Given the description of an element on the screen output the (x, y) to click on. 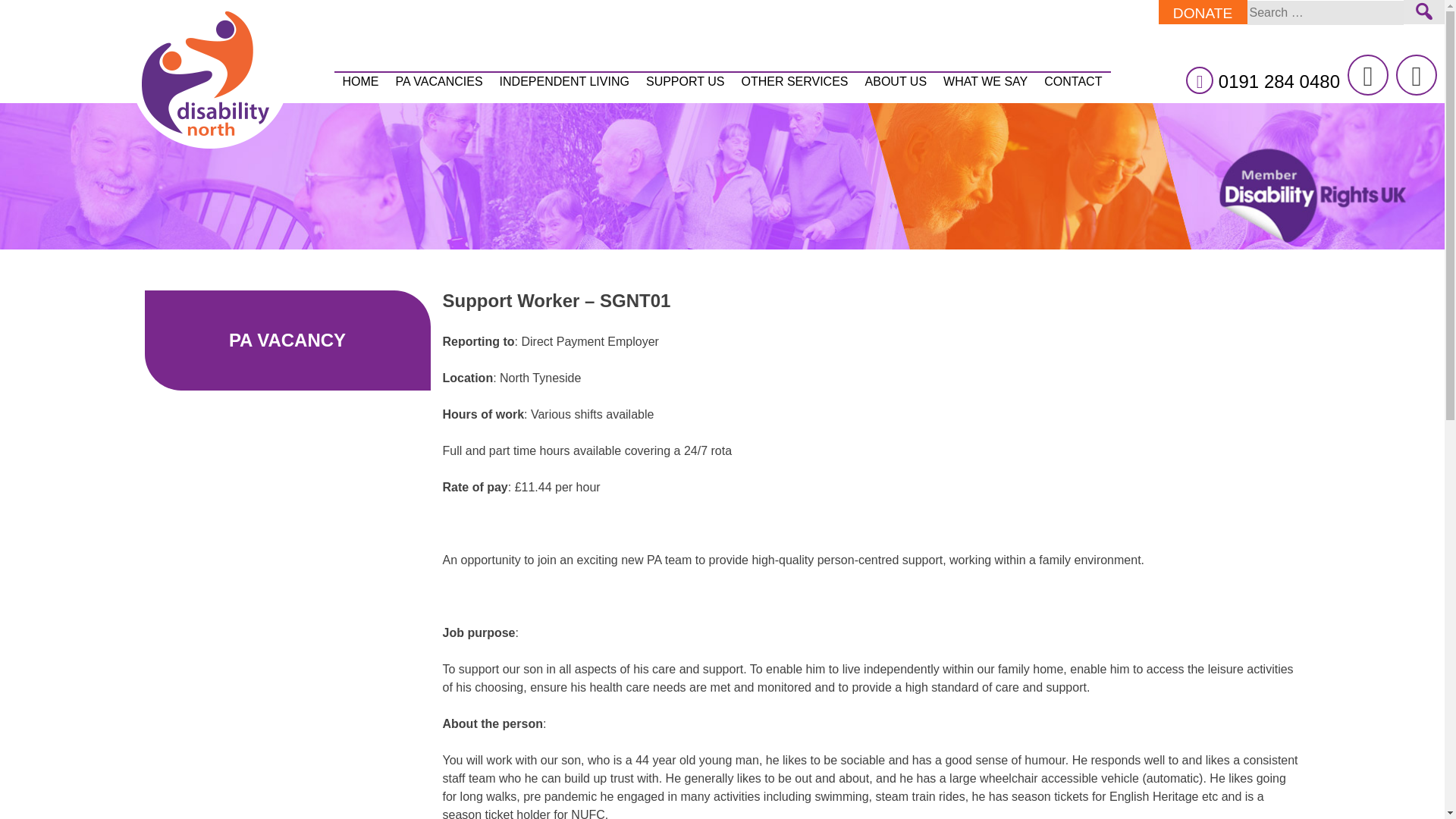
PA VACANCIES (439, 81)
INDEPENDENT LIVING (564, 81)
Facebook - DisabilityNorth (1416, 74)
DONATE (1202, 12)
HOME (360, 81)
SUPPORT US (684, 81)
OTHER SERVICES (794, 81)
Disability North (209, 78)
0191 284 0480 (1278, 81)
ABOUT US (896, 81)
